Given the description of an element on the screen output the (x, y) to click on. 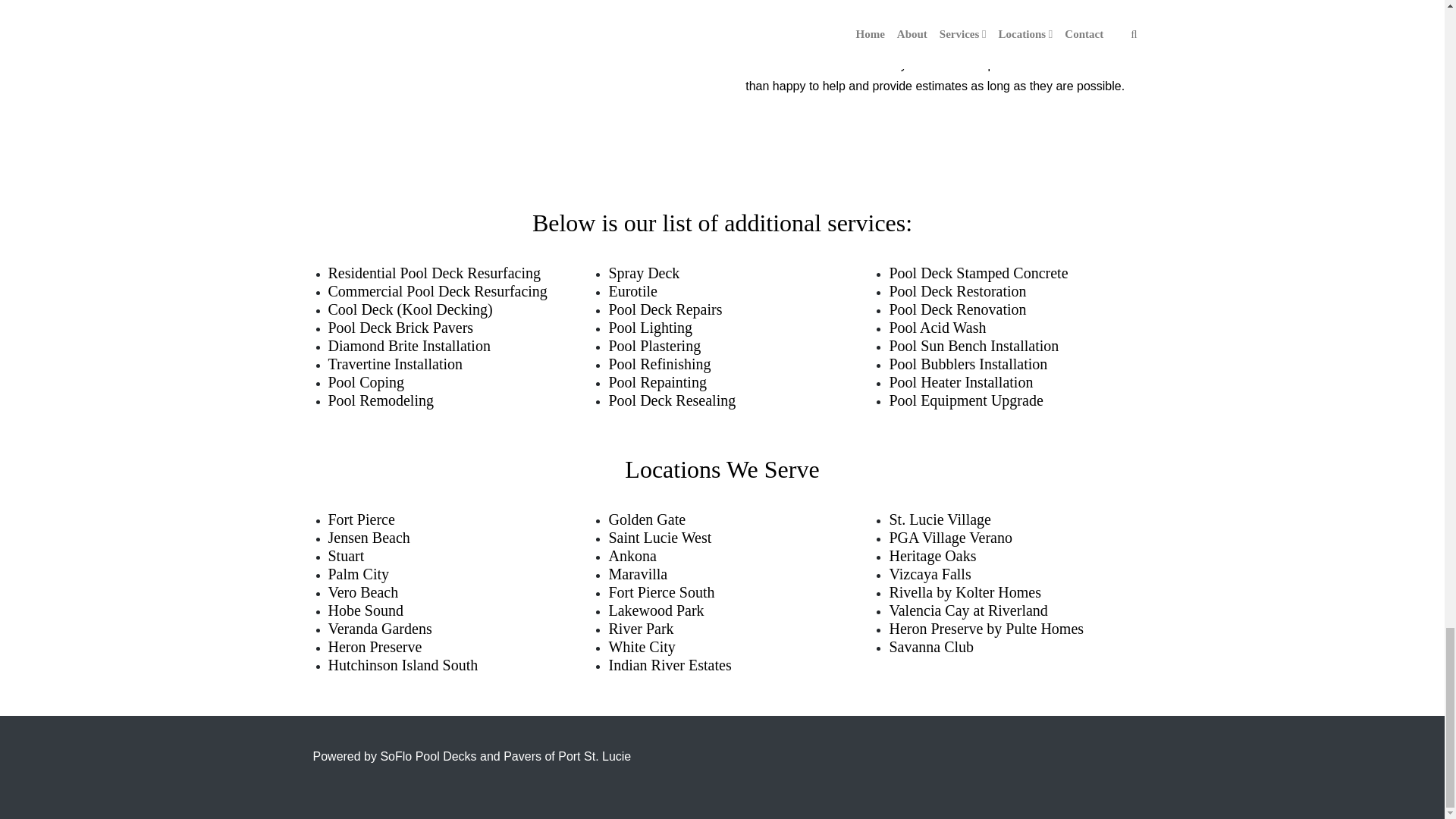
Travertine Installation (395, 363)
Commercial Pool Deck Resurfacing (437, 290)
Diamond Brite Installation (408, 345)
Pool Coping (365, 381)
Pool Remodeling (379, 400)
Residential Pool Deck Resurfacing (433, 272)
Pool Deck Brick Pavers (400, 327)
